Given the description of an element on the screen output the (x, y) to click on. 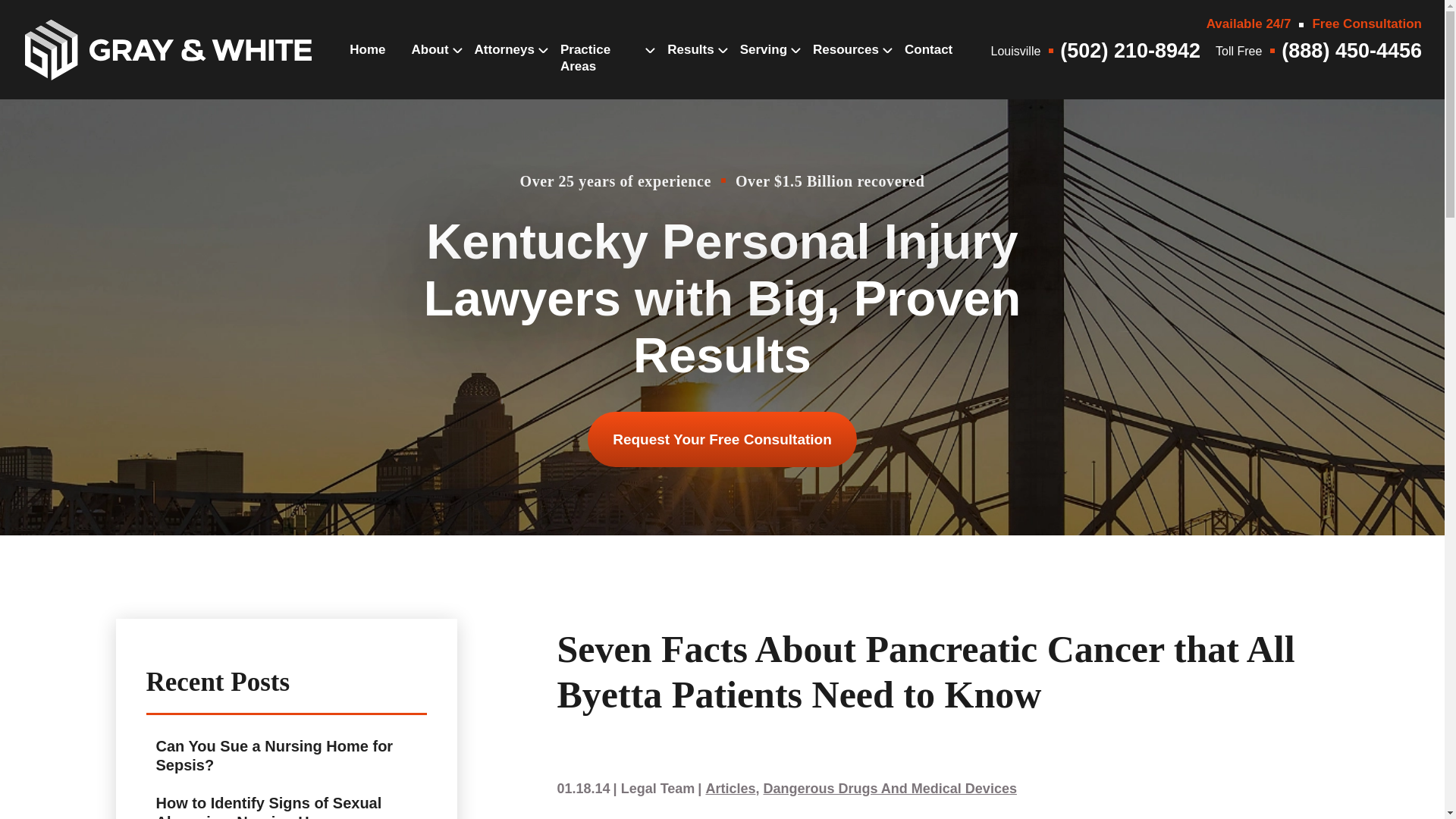
Practice Areas (601, 73)
Resources (845, 64)
Results (689, 64)
Attorneys (504, 64)
Serving (763, 64)
